Given the description of an element on the screen output the (x, y) to click on. 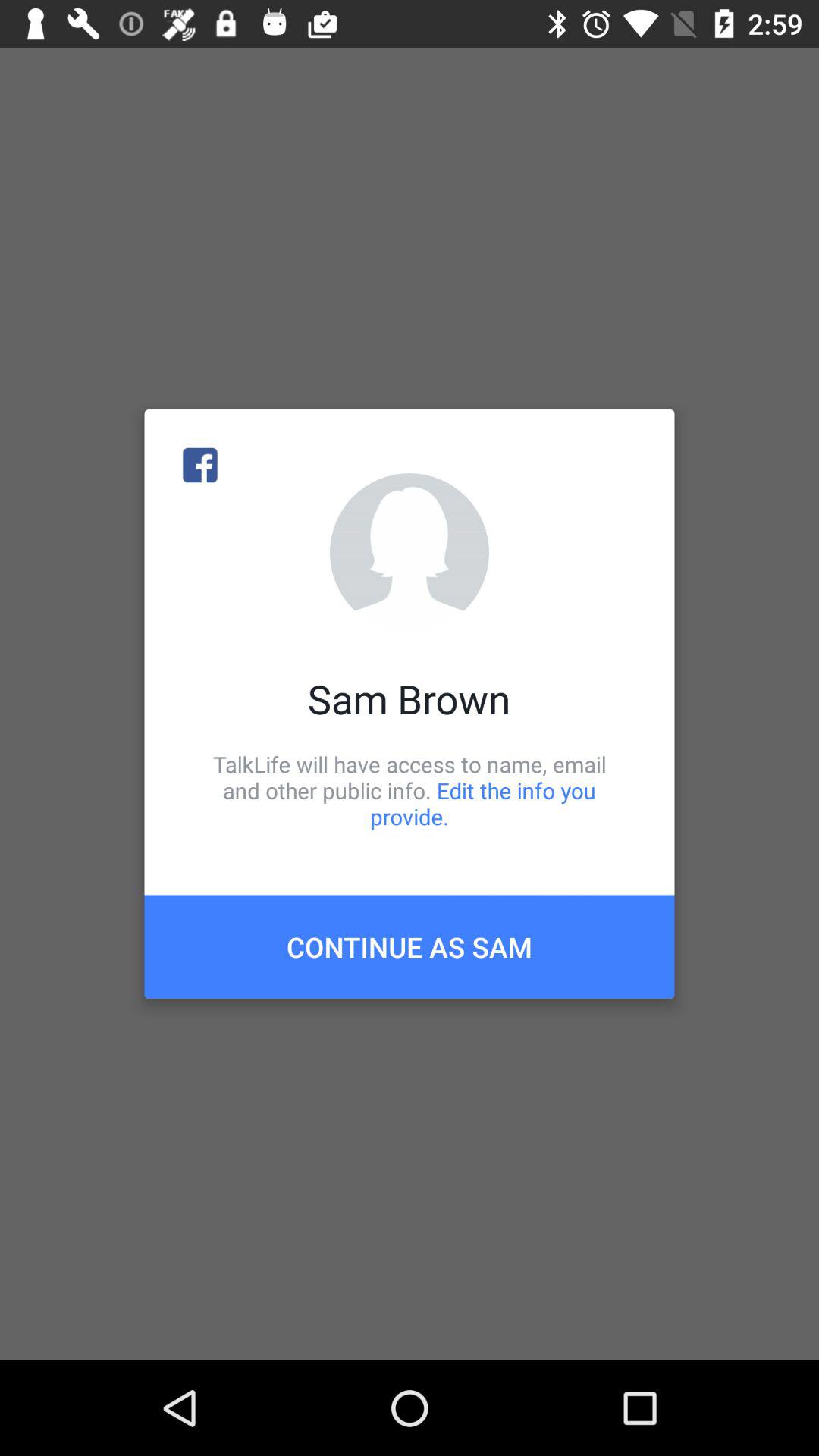
flip until the continue as sam (409, 946)
